Given the description of an element on the screen output the (x, y) to click on. 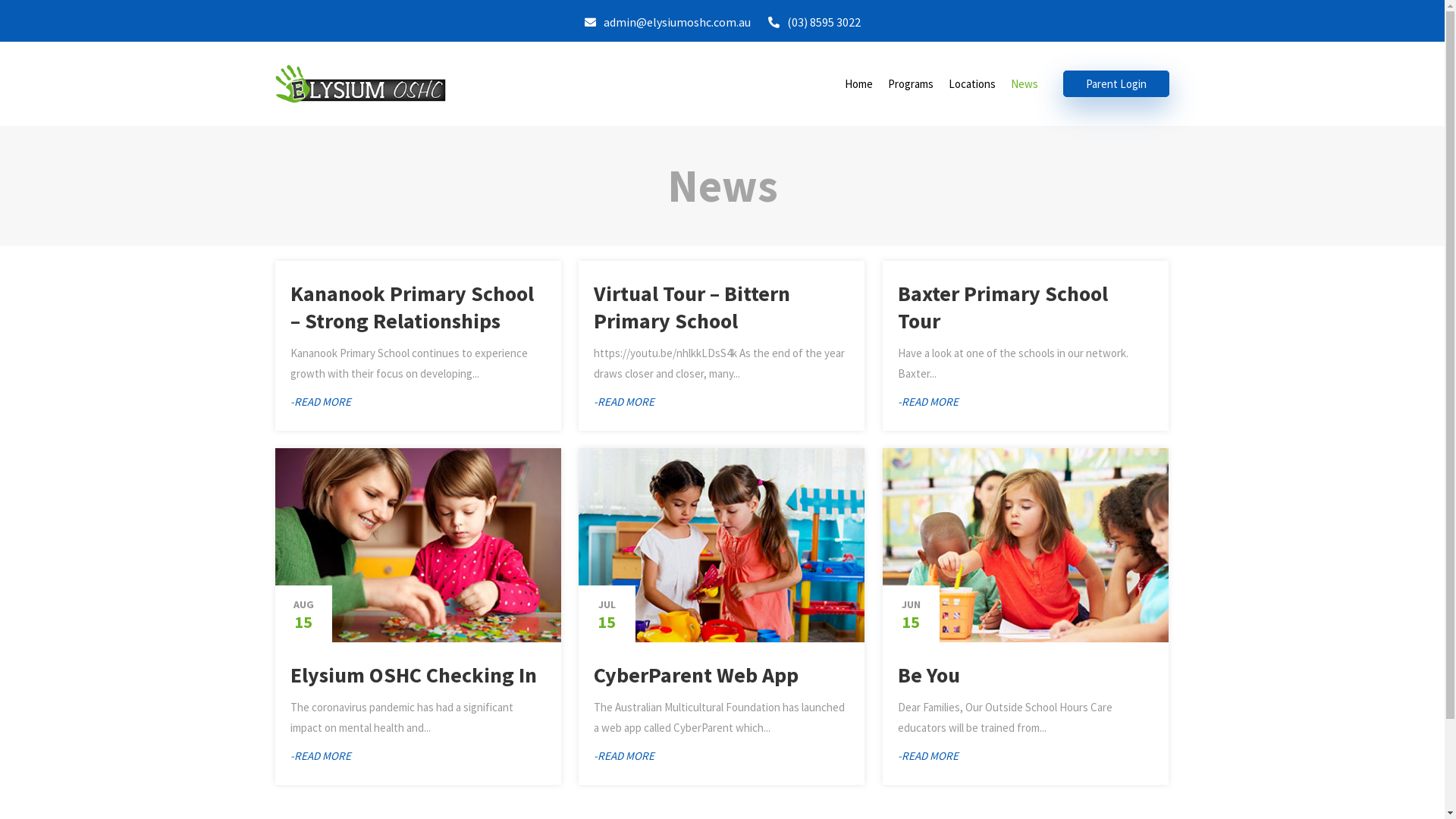
blog2 Element type: hover (1025, 545)
-READ MORE Element type: text (623, 401)
blog1 Element type: hover (417, 545)
blog3 Element type: hover (720, 545)
-READ MORE Element type: text (927, 755)
Parent Login Element type: text (1116, 83)
Elysium OSHC Checking In Element type: text (412, 674)
-READ MORE Element type: text (319, 401)
CyberParent Web App Element type: text (695, 674)
Be You Element type: text (928, 674)
admin@elysiumoshc.com.au Element type: text (666, 22)
logoheader Element type: hover (359, 83)
Baxter Primary School Tour Element type: text (1002, 306)
Home Element type: text (858, 83)
-READ MORE Element type: text (623, 755)
(03) 8595 3022 Element type: text (813, 22)
News Element type: text (1024, 83)
-READ MORE Element type: text (319, 755)
-READ MORE Element type: text (927, 401)
Programs Element type: text (910, 83)
Locations Element type: text (972, 83)
